Given the description of an element on the screen output the (x, y) to click on. 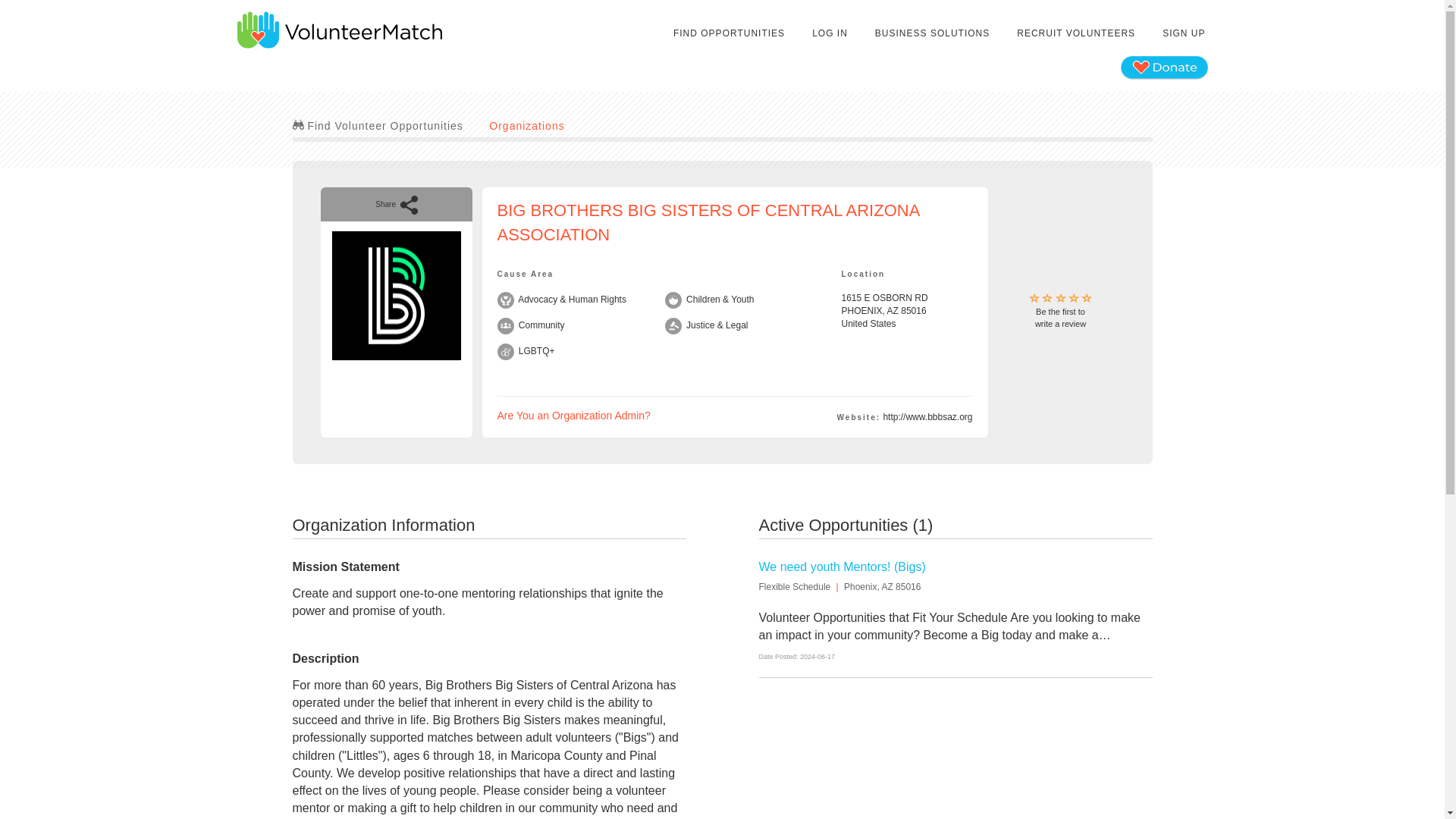
Organizations (573, 415)
SIGN UP (526, 125)
RECRUIT VOLUNTEERS (1183, 32)
Opens a widget where you can find more information (1075, 32)
Find Volunteer Opportunities (57, 792)
FIND OPPORTUNITIES (377, 125)
BUSINESS SOLUTIONS (1059, 311)
LOG IN (729, 32)
